Given the description of an element on the screen output the (x, y) to click on. 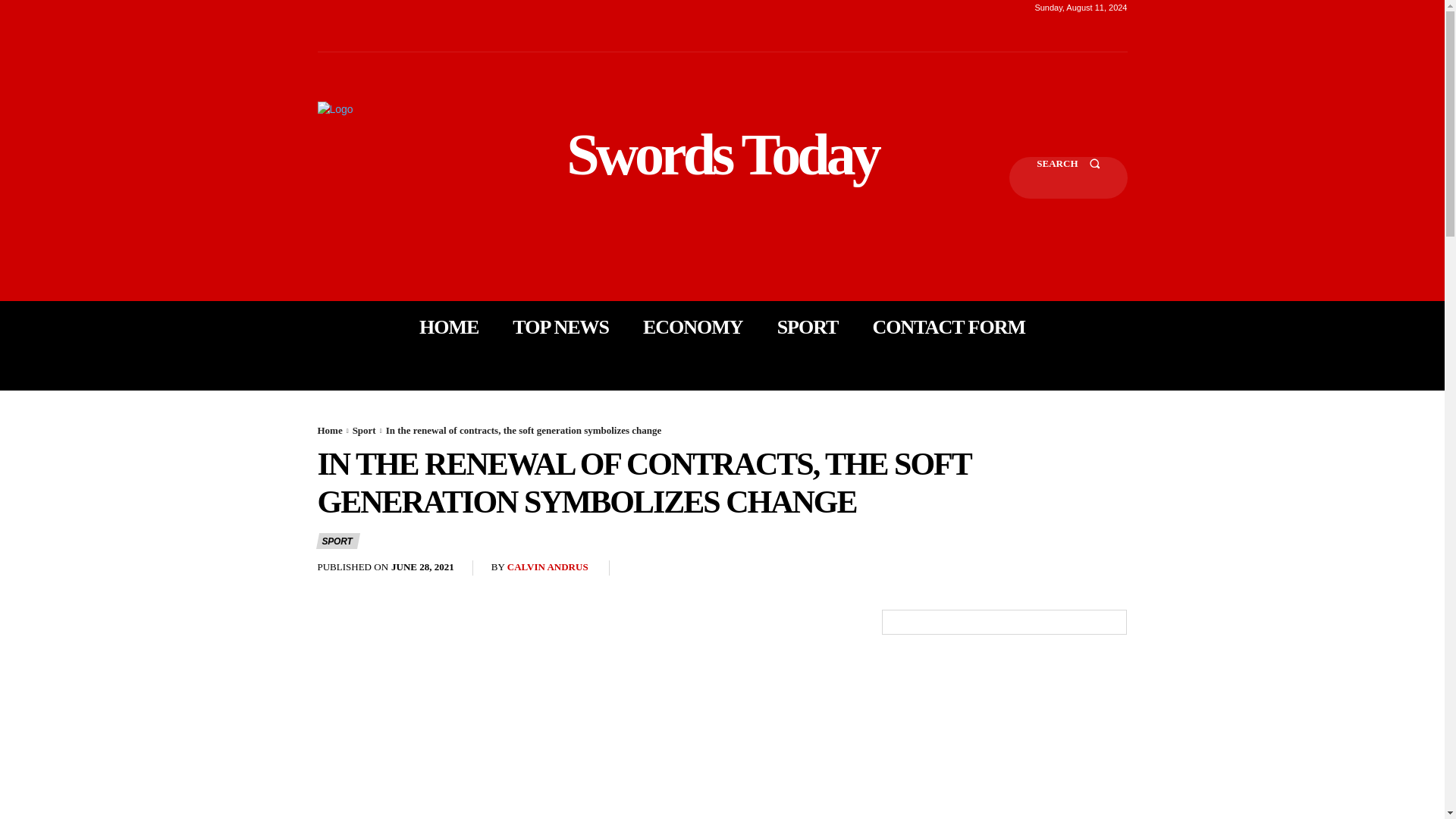
HOME (449, 327)
Search (1067, 178)
View all posts in Sport (363, 430)
ECONOMY (692, 327)
TOP NEWS (560, 327)
Sport (363, 430)
SPORT (807, 327)
Home (329, 430)
SEARCH (1067, 178)
Swords Today (722, 154)
